Given the description of an element on the screen output the (x, y) to click on. 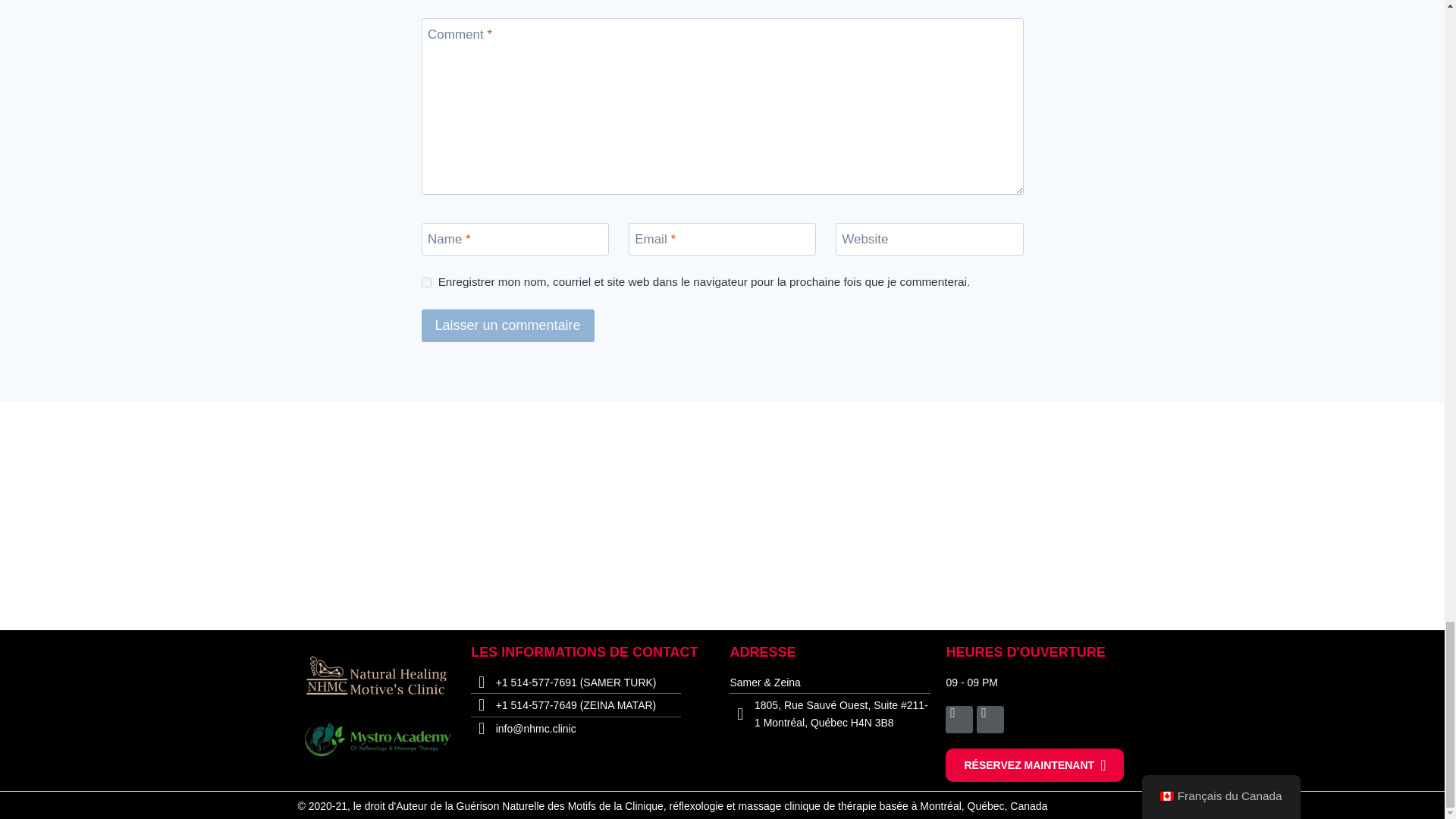
yes (426, 282)
Laisser un commentaire (508, 325)
